Given the description of an element on the screen output the (x, y) to click on. 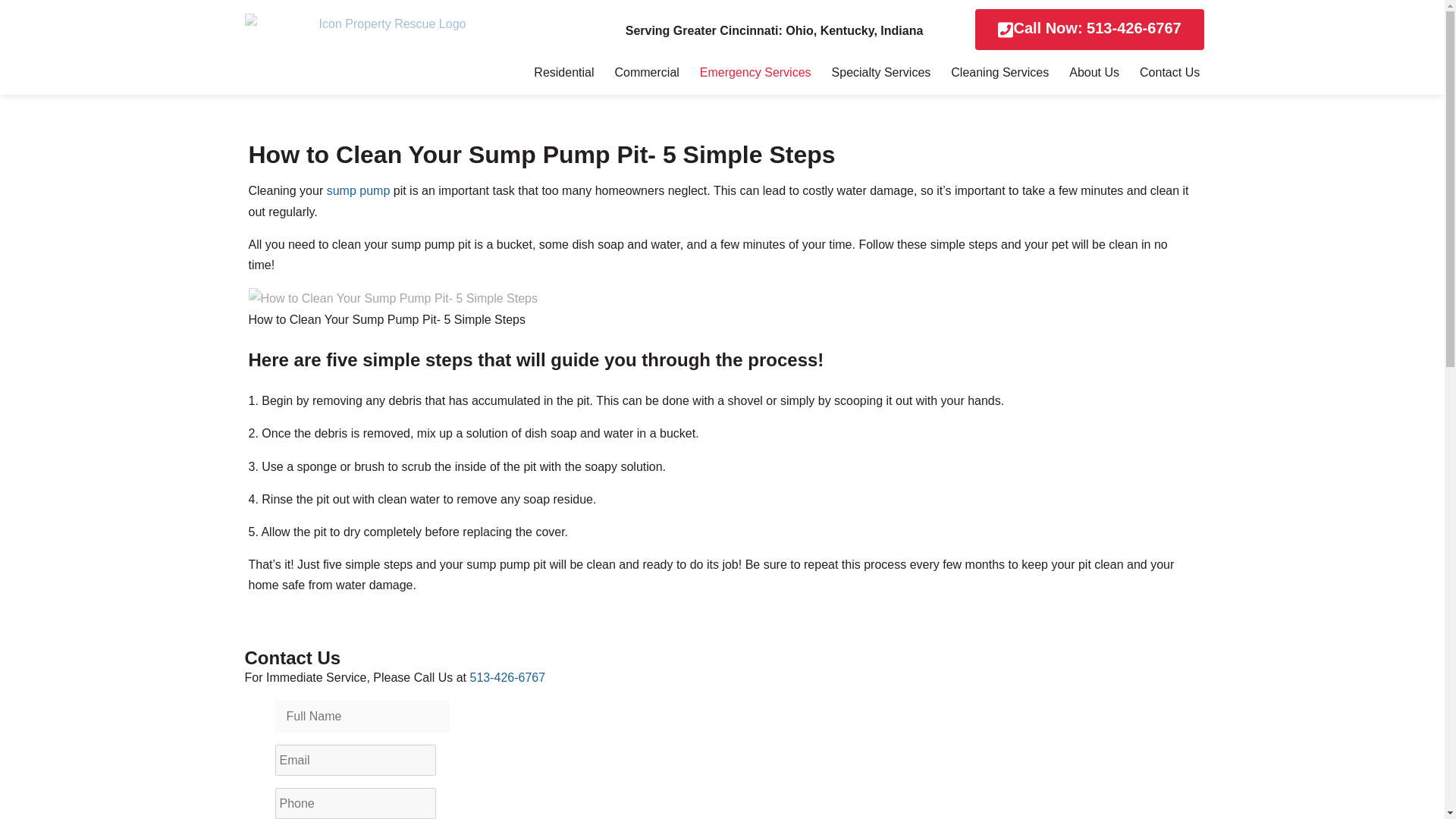
About Us (1094, 72)
Specialty Services (881, 72)
Commercial (646, 72)
Contact Us (1169, 72)
Residential (563, 72)
Call Now: 513-426-6767 (1089, 29)
Emergency Services (755, 72)
Cleaning Services (999, 72)
